Given the description of an element on the screen output the (x, y) to click on. 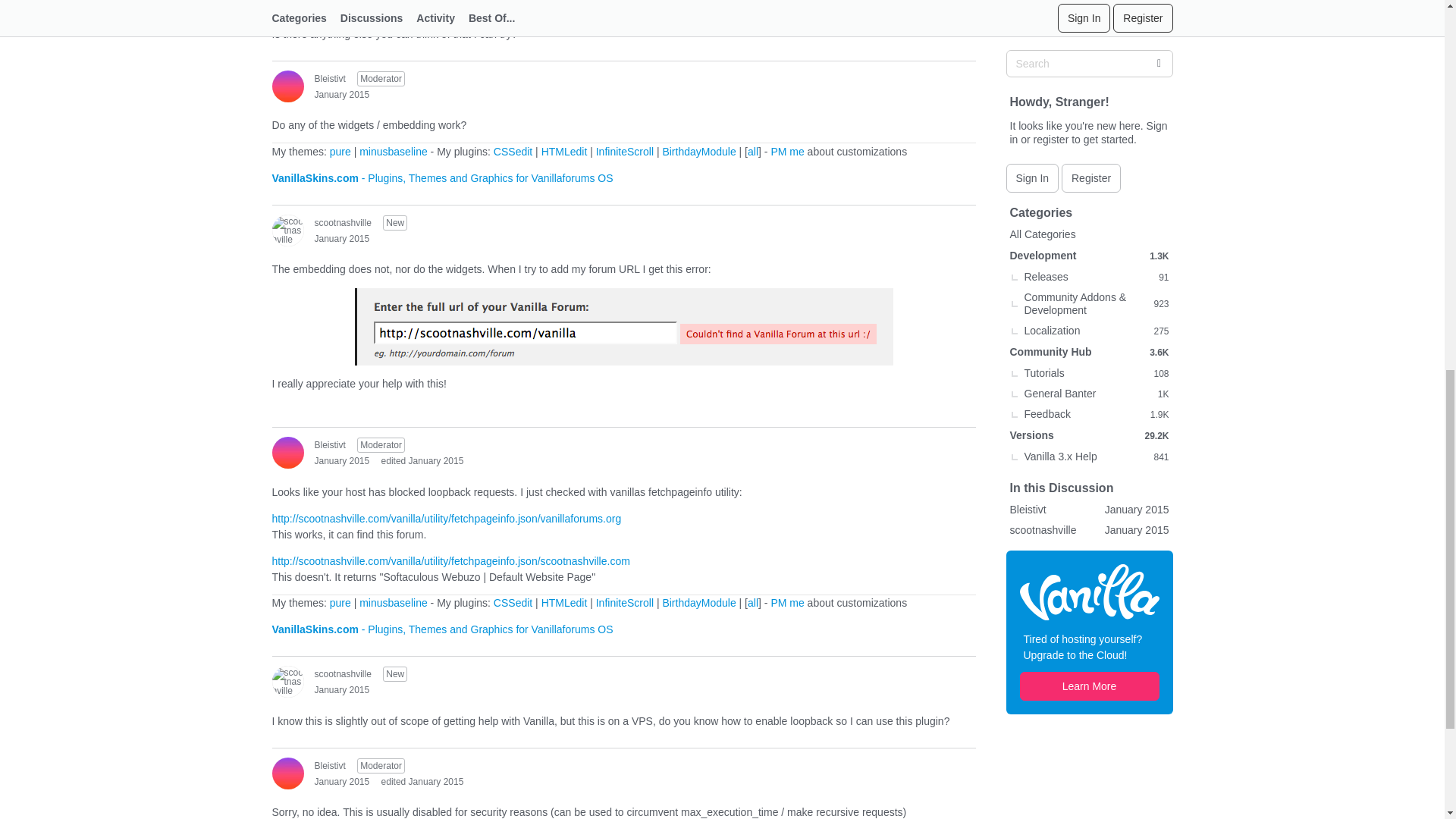
scootnashville (286, 229)
Bleistivt (286, 85)
January 20, 2015 6:57PM (341, 94)
New (394, 222)
Moderator (380, 78)
